Given the description of an element on the screen output the (x, y) to click on. 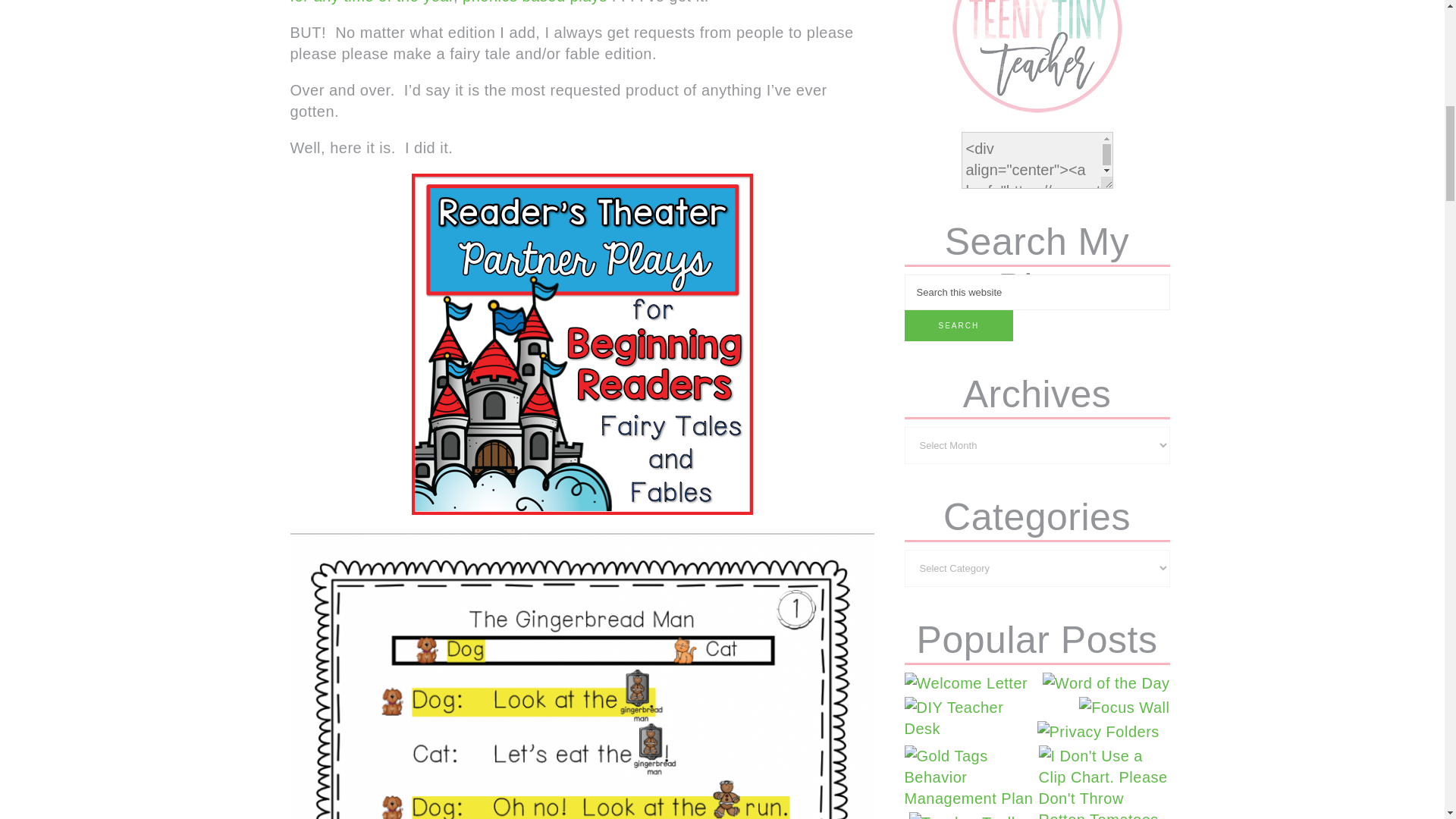
DIY Teacher Desk (969, 717)
Focus Wall (1123, 707)
Word of the Day (1106, 682)
Gold Tags Behavior Management Plan (969, 777)
Teacher Toolbox (972, 815)
Privacy Folders (1097, 731)
phonics based plays (535, 2)
Welcome Letter (965, 682)
Search (958, 325)
